Given the description of an element on the screen output the (x, y) to click on. 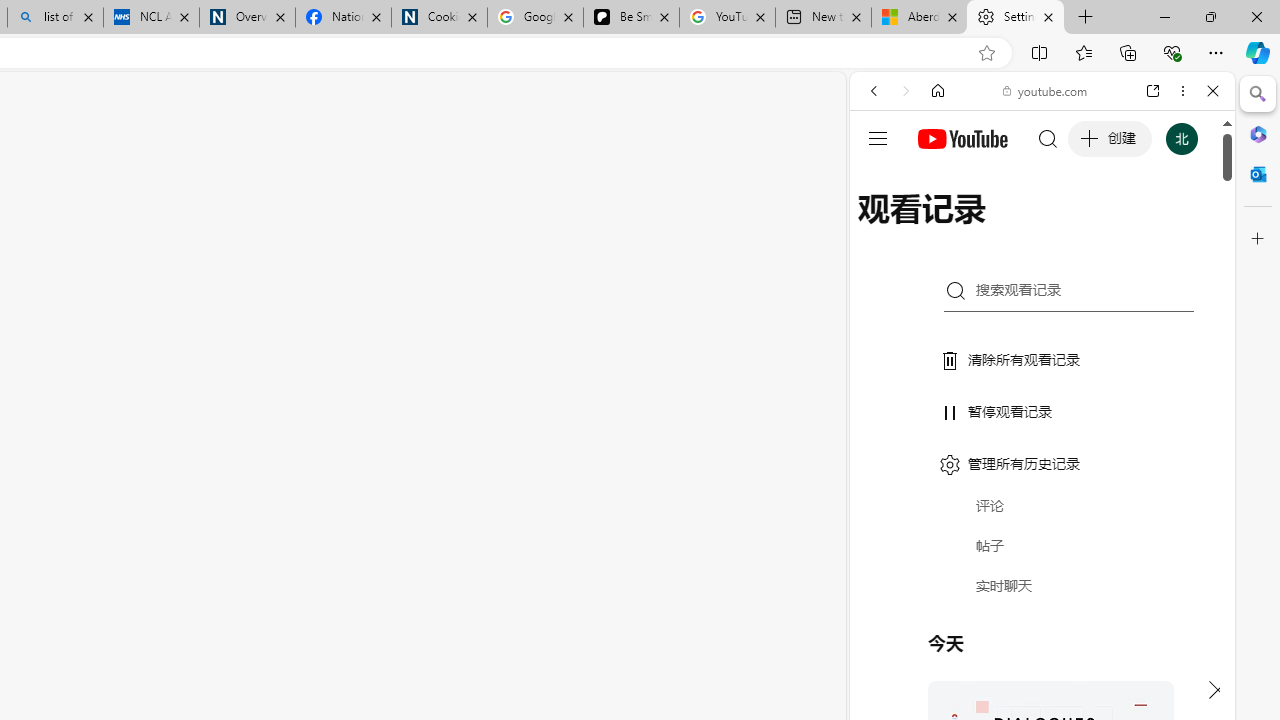
youtube.com (1046, 90)
